Given the description of an element on the screen output the (x, y) to click on. 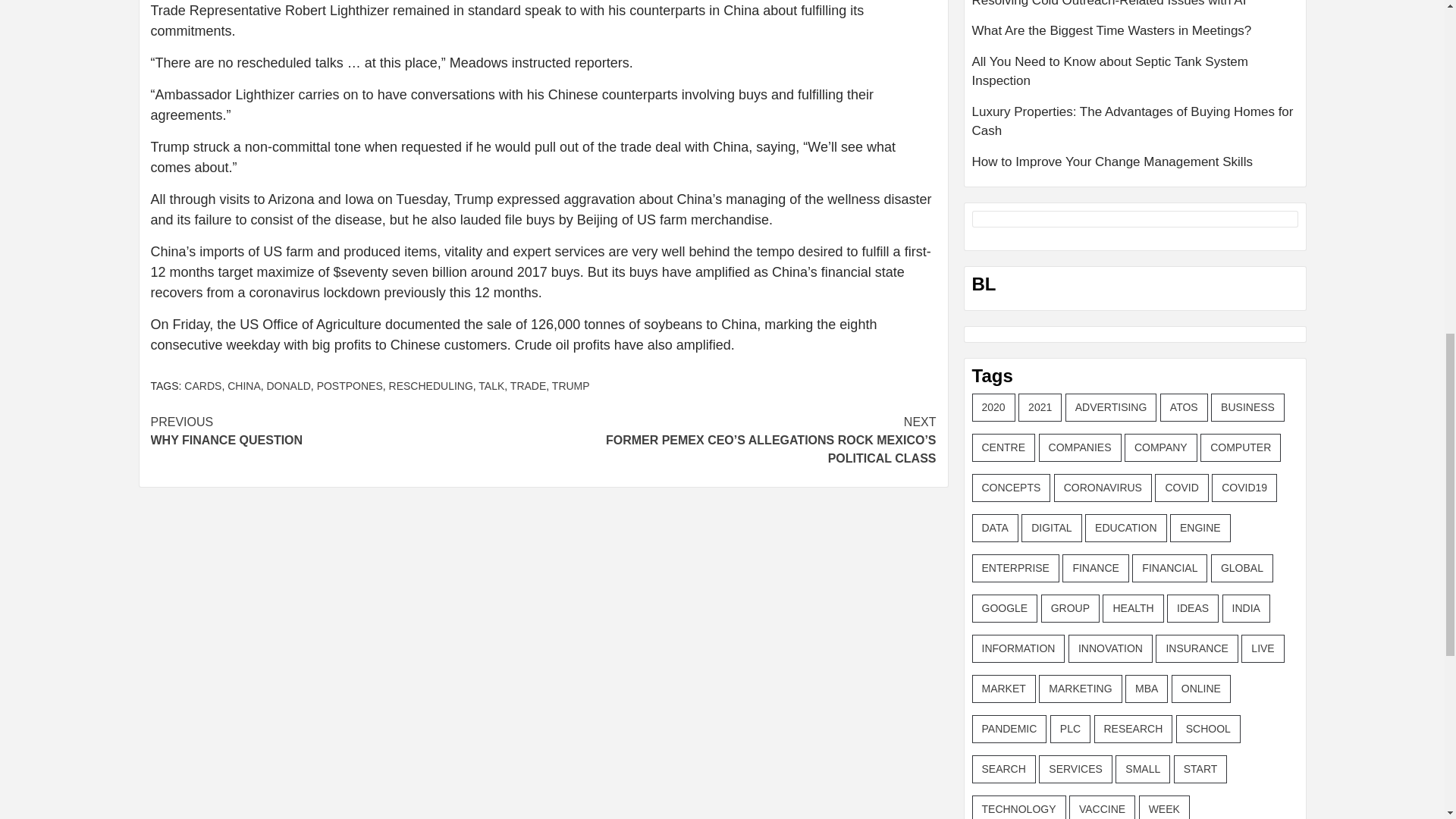
What Are the Biggest Time Wasters in Meetings? (1135, 36)
2021 (1039, 407)
CHINA (243, 386)
DONALD (346, 431)
How to Improve Your Change Management Skills (288, 386)
Resolving Cold Outreach-Related Issues with AI (1135, 161)
TALK (1135, 11)
All You Need to Know about Septic Tank System Inspection (491, 386)
Luxury Properties: The Advantages of Buying Homes for Cash (1135, 77)
